Given the description of an element on the screen output the (x, y) to click on. 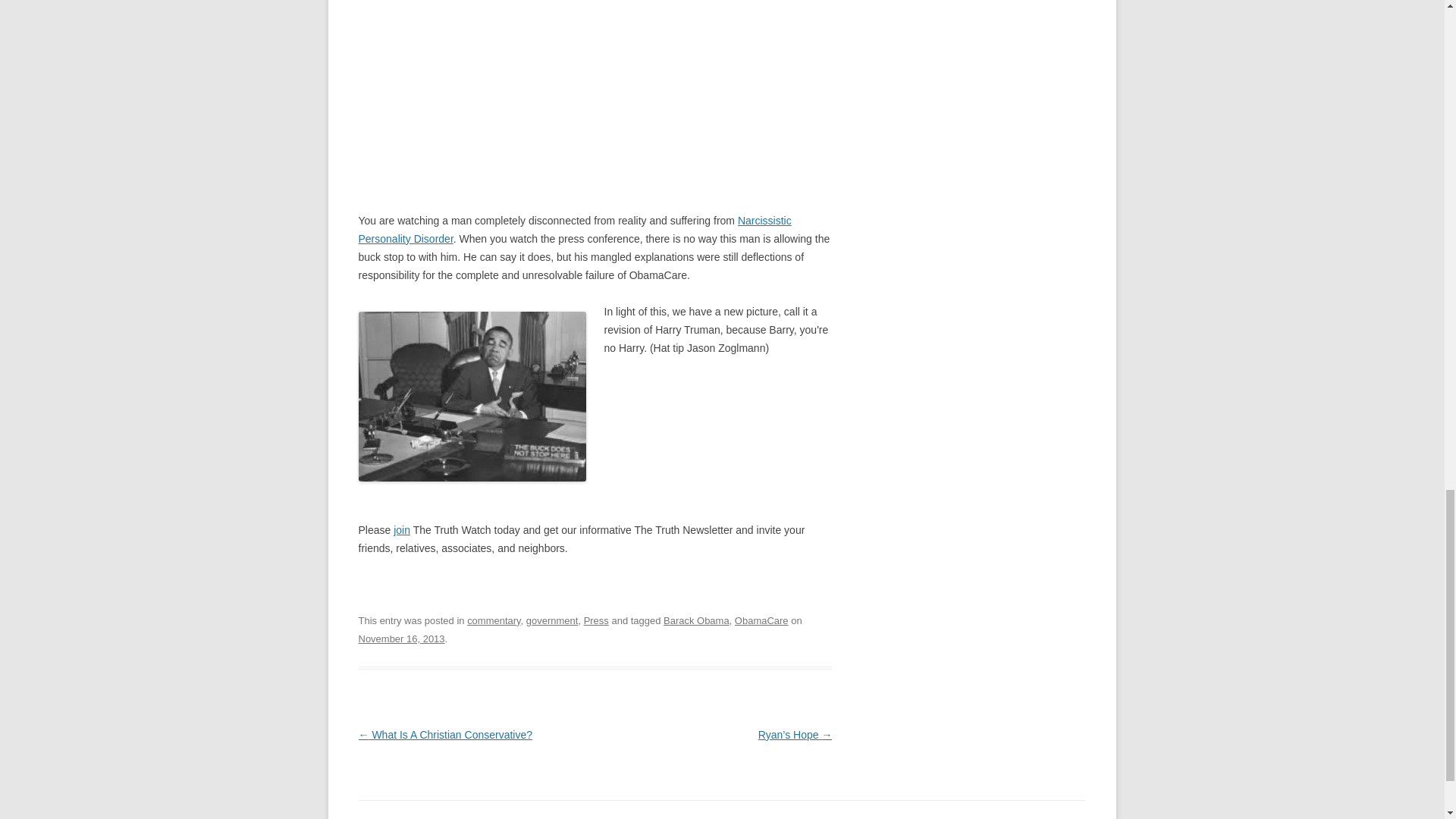
Press (595, 620)
Barack Obama (696, 620)
ObamaCare (762, 620)
government (551, 620)
YouTube video player (518, 84)
commentary (493, 620)
join (401, 530)
Narcissistic Personality Disorder (574, 229)
November 16, 2013 (401, 638)
1:53 pm (401, 638)
